Given the description of an element on the screen output the (x, y) to click on. 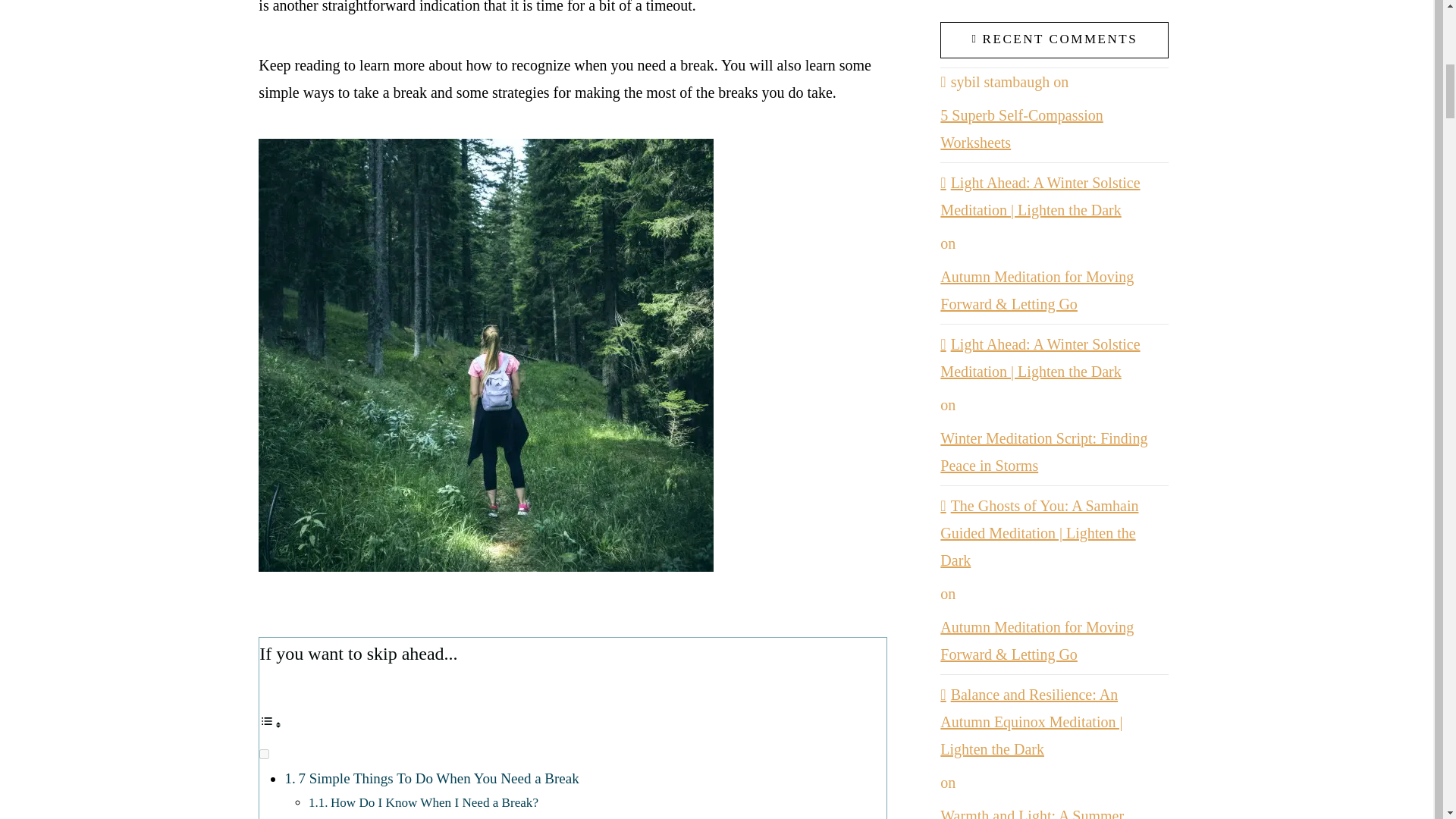
7 Simple Things To Do When You Need a Break (438, 778)
on (264, 754)
How Do I Know When I Need a Break? (434, 802)
